Given the description of an element on the screen output the (x, y) to click on. 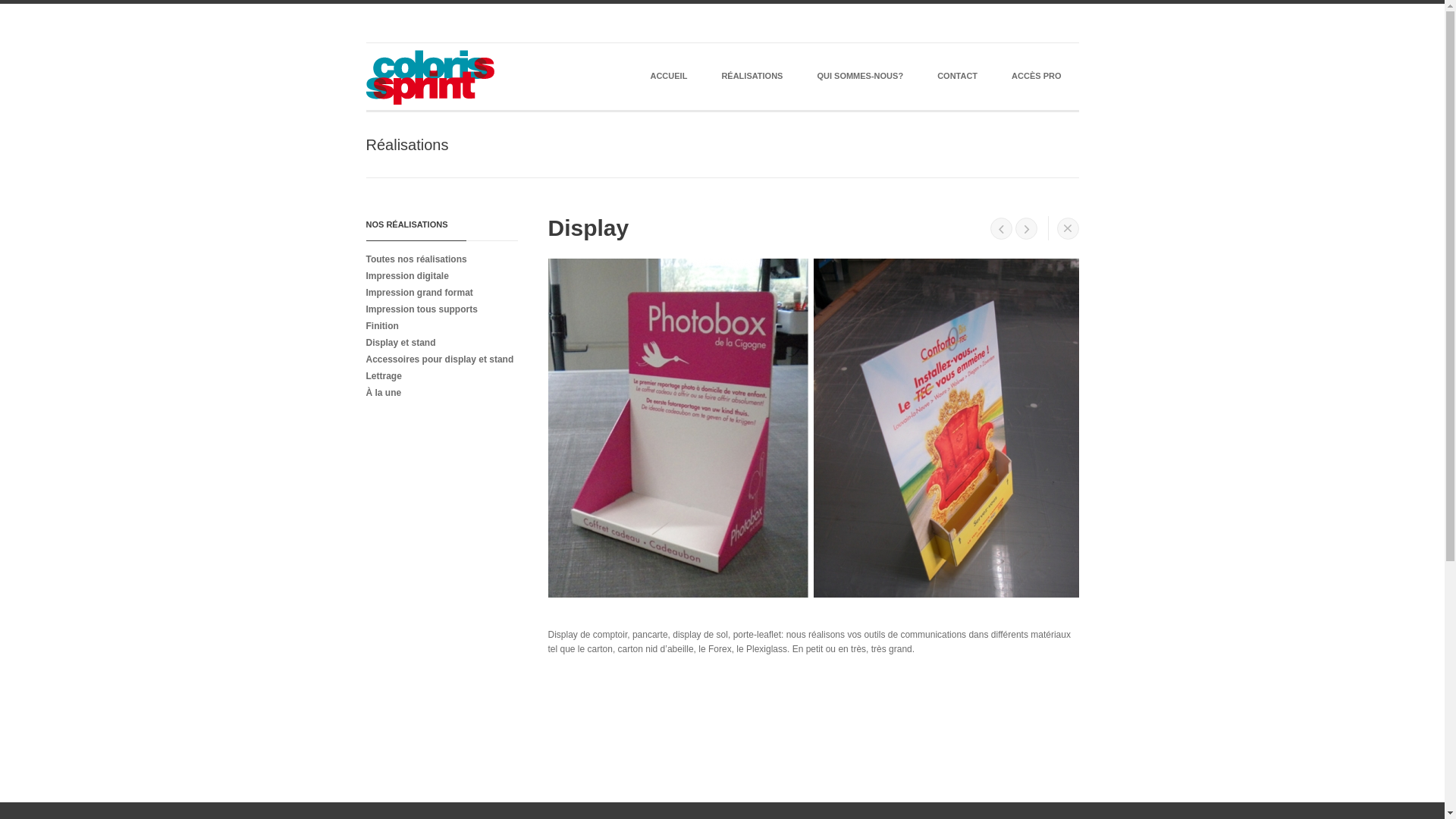
QUI SOMMES-NOUS? Element type: text (859, 77)
Impression tous supports Element type: text (437, 308)
Impression digitale Element type: text (437, 274)
CONTACT Element type: text (957, 77)
Lettrage Element type: text (437, 375)
Accessoires pour display et stand Element type: text (437, 358)
Impression grand format Element type: text (437, 291)
Display et stand Element type: text (437, 341)
Finition Element type: text (437, 324)
ACCUEIL Element type: text (668, 77)
